Given the description of an element on the screen output the (x, y) to click on. 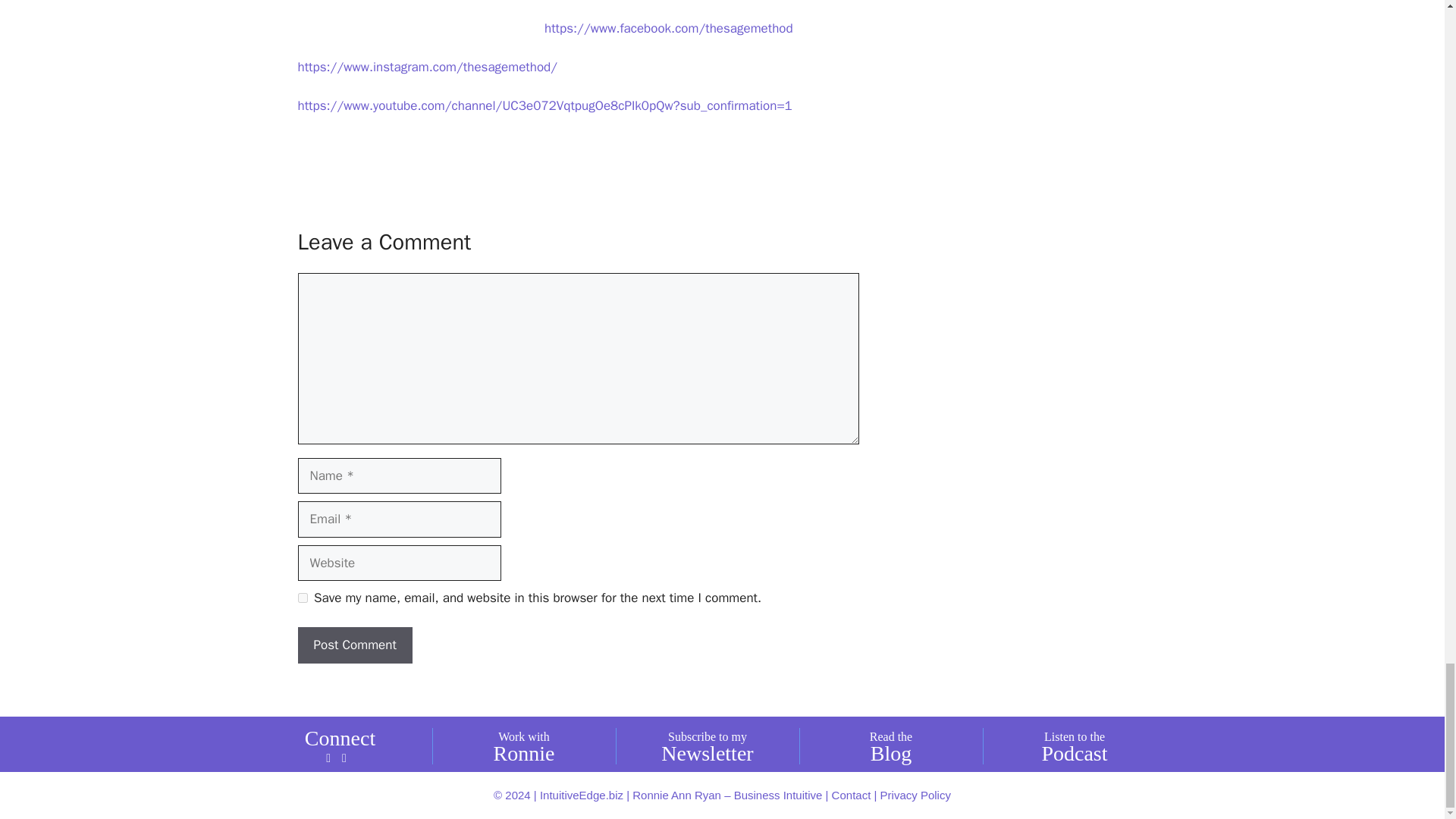
Post Comment (354, 645)
Post Comment (354, 645)
yes (302, 597)
